Given the description of an element on the screen output the (x, y) to click on. 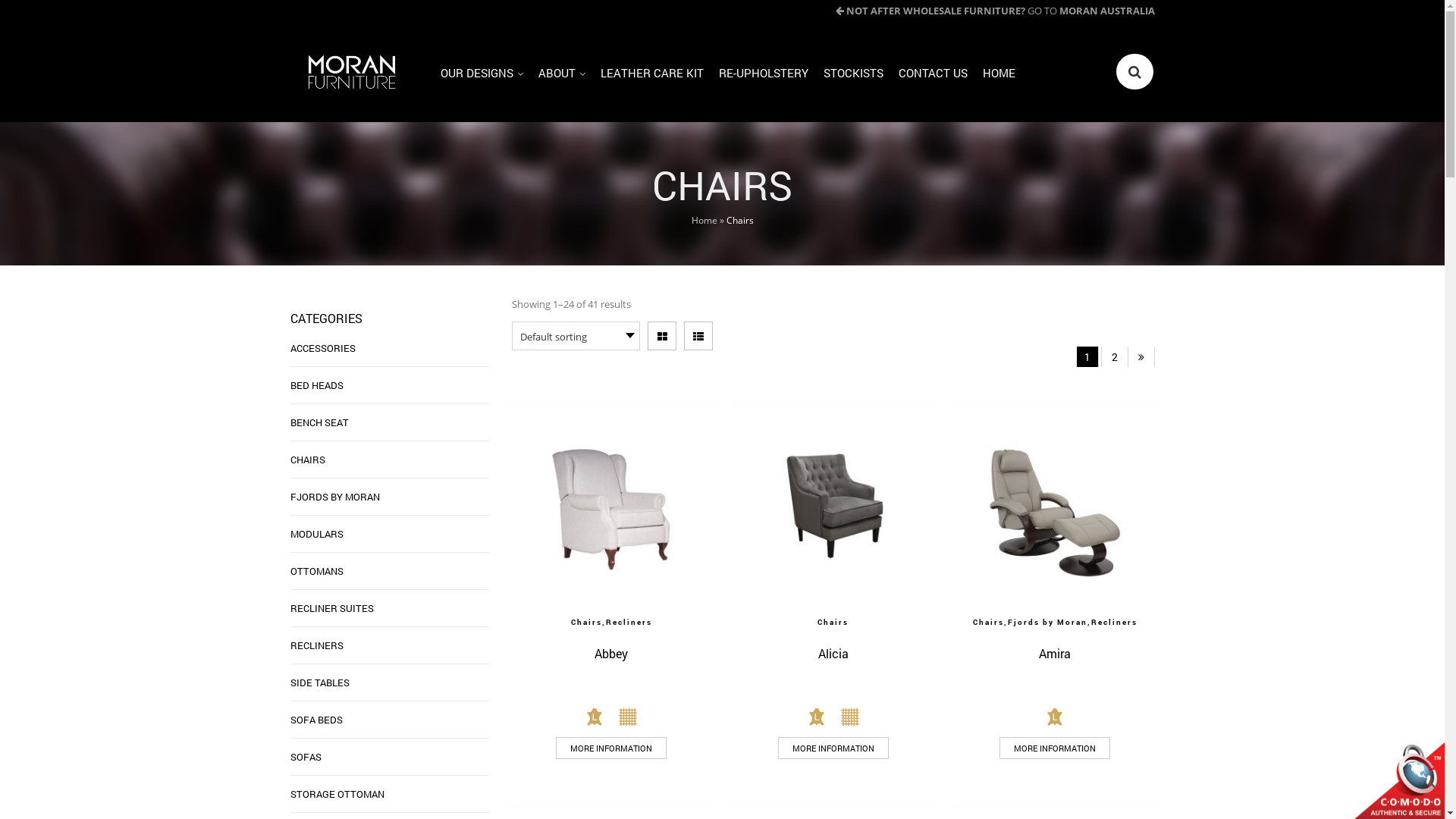
RECLINER SUITES Element type: text (331, 607)
BENCH SEAT Element type: text (318, 422)
OUR DESIGNS Element type: text (481, 77)
STOCKISTS Element type: text (853, 76)
STORAGE OTTOMAN Element type: text (336, 793)
SOFA BEDS Element type: text (315, 719)
Abbey Element type: text (610, 653)
RECLINERS Element type: text (315, 645)
Alicia Element type: text (833, 653)
Recliners Element type: text (1114, 622)
RE-UPHOLSTERY Element type: text (763, 76)
SIDE TABLES Element type: text (318, 682)
HOME Element type: text (998, 76)
SOFAS Element type: text (304, 756)
Fjords by Moran Element type: text (1047, 622)
ACCESSORIES Element type: text (321, 347)
ABOUT Element type: text (561, 77)
Recliners Element type: text (628, 622)
MORE INFORMATION Element type: text (1054, 748)
MORE INFORMATION Element type: text (833, 748)
Chairs Element type: text (832, 622)
2 Element type: text (1114, 355)
MODULARS Element type: text (315, 533)
OTTOMANS Element type: text (315, 570)
MORE INFORMATION Element type: text (610, 748)
CONTACT US Element type: text (933, 76)
FJORDS BY MORAN Element type: text (334, 496)
CHAIRS Element type: text (306, 459)
Chairs Element type: text (988, 622)
Chairs Element type: text (586, 622)
LEATHER CARE KIT Element type: text (652, 76)
Amira Element type: text (1054, 653)
Home Element type: text (704, 219)
NOT AFTER WHOLESALE FURNITURE? GO TO MORAN AUSTRALIA Element type: text (994, 10)
BED HEADS Element type: text (315, 385)
